Given the description of an element on the screen output the (x, y) to click on. 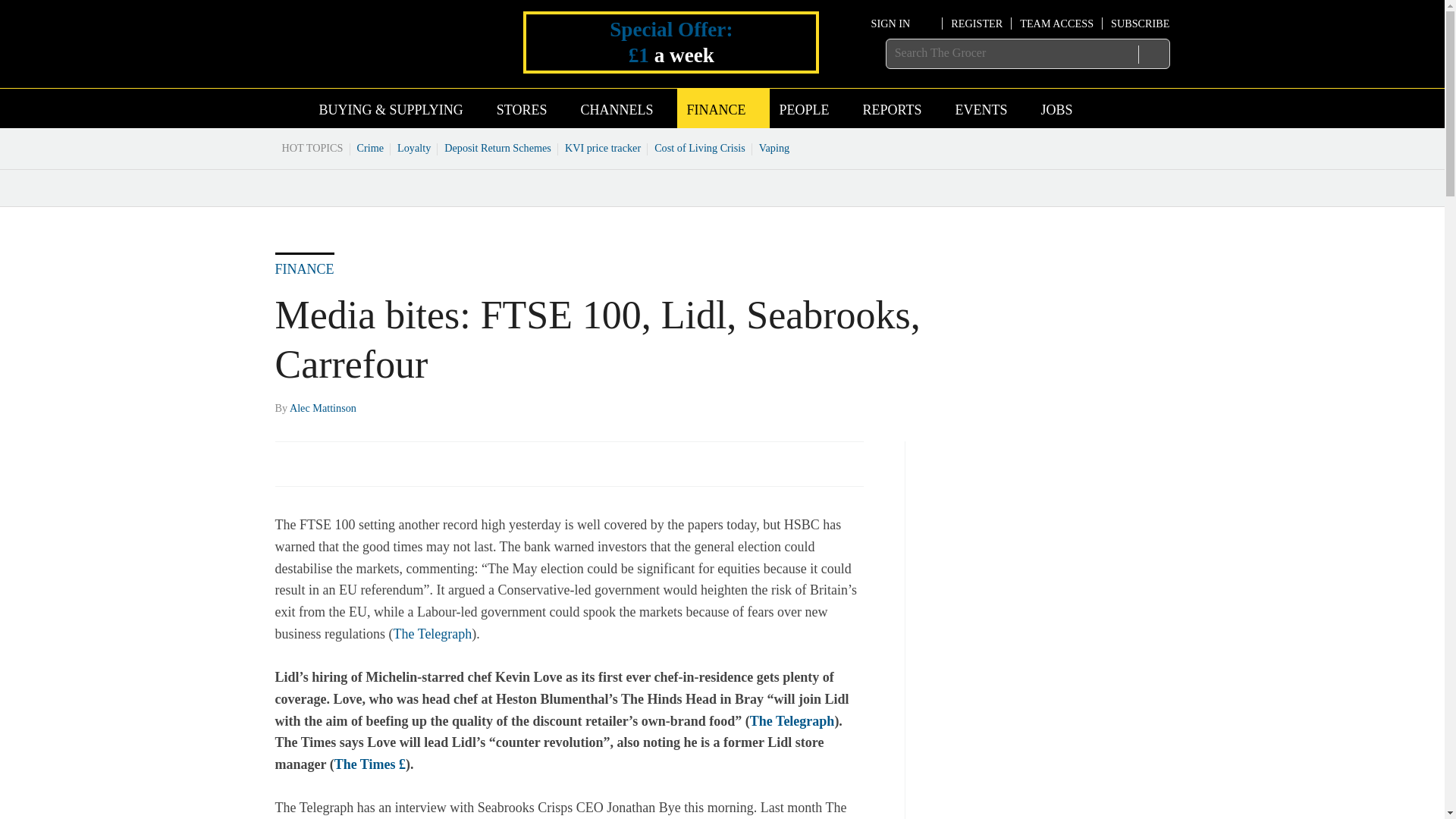
REGISTER (976, 23)
SIGN IN (902, 23)
Crime (370, 147)
TEAM ACCESS (1056, 23)
SUBSCRIBE (1139, 23)
Share this on Facebook (288, 462)
Loyalty (414, 147)
Site name (363, 65)
Vaping (774, 147)
No comments (840, 472)
